Given the description of an element on the screen output the (x, y) to click on. 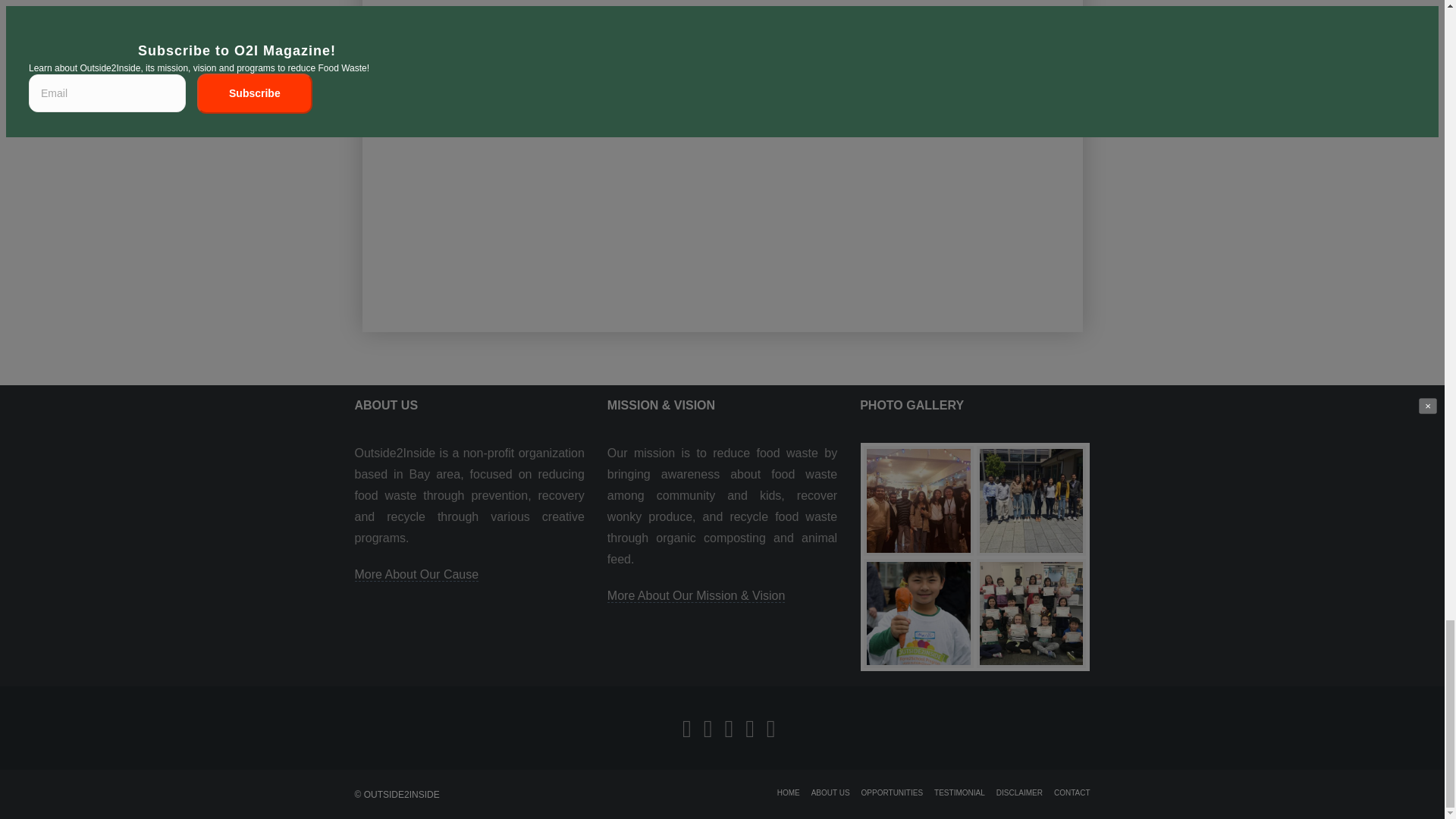
HOME (788, 792)
Fall 2019 FEED Project Completion Meeting (917, 500)
Farm2School Volunteer Appreciation Event (1031, 613)
O2I FEED Spring 2019 Project Completion Meeting (1031, 500)
More About Our Cause (417, 574)
